Given the description of an element on the screen output the (x, y) to click on. 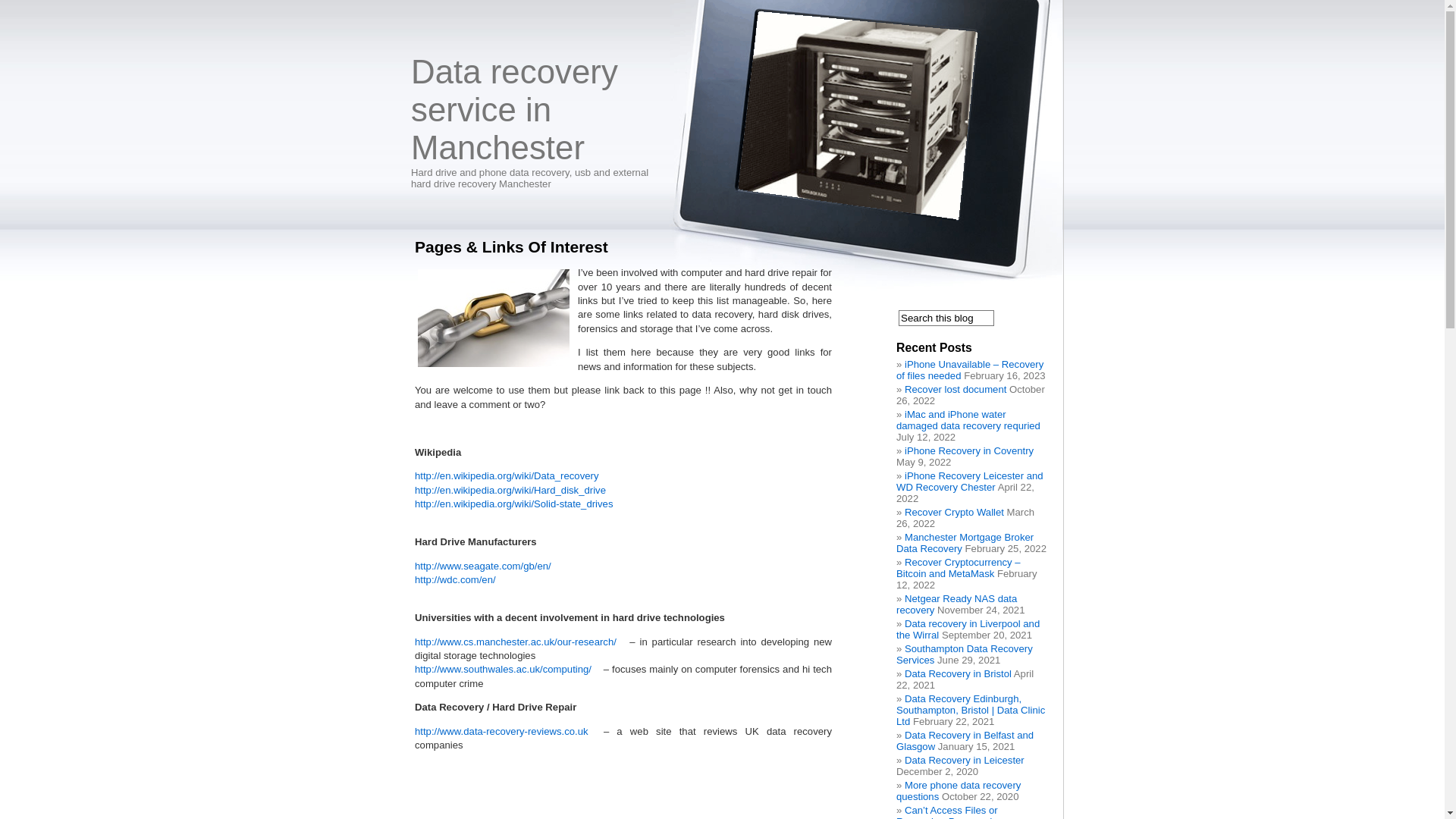
Data Recovery in Leicester Element type: text (964, 759)
Recover lost document Element type: text (955, 389)
Recover Crypto Wallet Element type: text (954, 511)
http://www.data-recovery-reviews.co.uk Element type: text (501, 731)
Data recovery service in Manchester Element type: text (514, 109)
http://www.seagate.com/gb/en/
http://wdc.com/en/ Element type: text (482, 572)
iMac and iPhone water damaged data recovery requried Element type: text (968, 419)
http://en.wikipedia.org/wiki/Hard_disk_drive Element type: text (509, 489)
More phone data recovery questions Element type: text (958, 790)
iPhone Recovery Leicester and WD Recovery Chester Element type: text (969, 481)
Data Recovery in Bristol Element type: text (957, 673)
Netgear Ready NAS data recovery Element type: text (956, 604)
http://en.wikipedia.org/wiki/Data_recovery Element type: text (506, 475)
Data recovery in Liverpool and the Wirral Element type: text (967, 629)
Data Recovery in Belfast and Glasgow Element type: text (964, 740)
http://www.cs.manchester.ac.uk/our-research/ Element type: text (515, 641)
Southampton Data Recovery Services Element type: text (964, 654)
http://www.southwales.ac.uk/computing/ Element type: text (502, 668)
http://en.wikipedia.org/wiki/Solid-state_drives Element type: text (513, 503)
iPhone Recovery in Coventry Element type: text (968, 450)
Manchester Mortgage Broker Data Recovery Element type: text (964, 542)
